Given the description of an element on the screen output the (x, y) to click on. 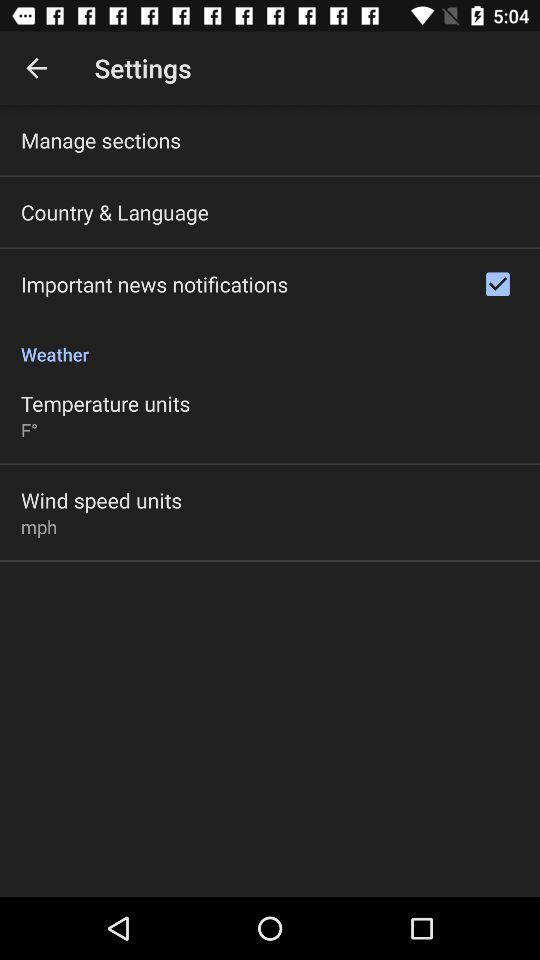
flip to the temperature units icon (105, 403)
